Given the description of an element on the screen output the (x, y) to click on. 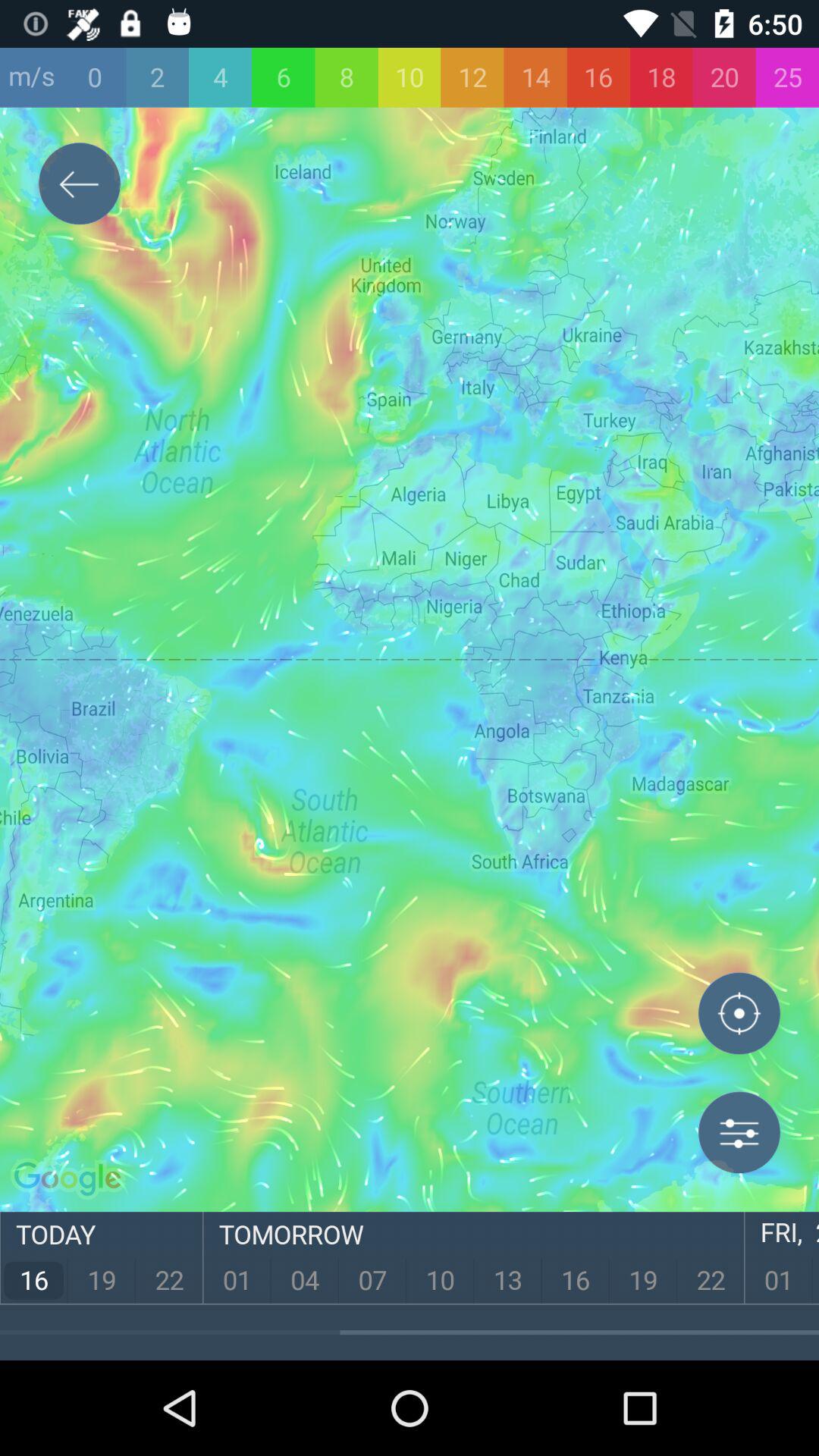
menu icon (739, 1132)
